Given the description of an element on the screen output the (x, y) to click on. 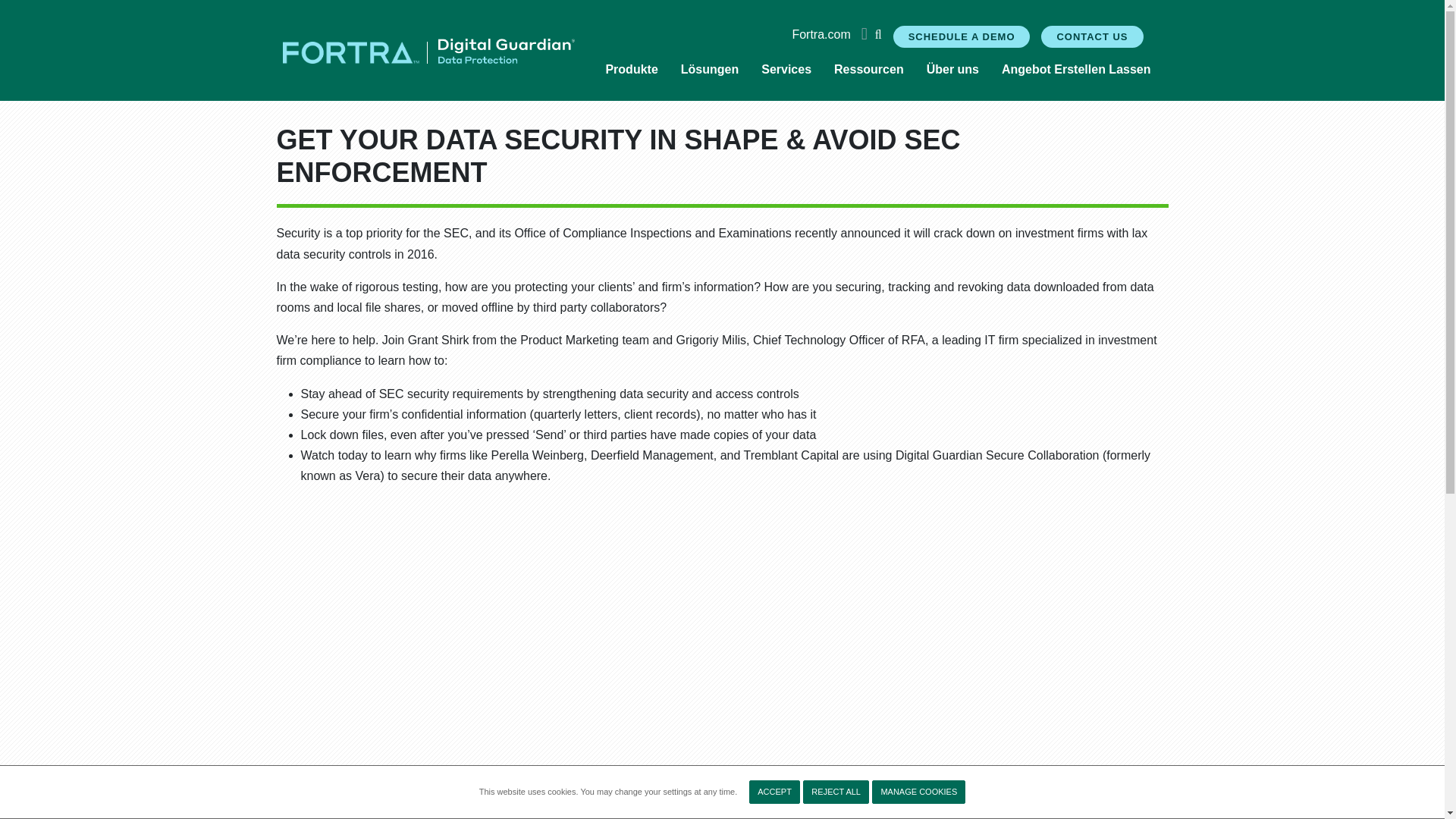
Produkte (631, 69)
REJECT ALL (836, 791)
SCHEDULE A DEMO (961, 36)
MANAGE COOKIES (918, 791)
CONTACT US (1091, 36)
Fortra.com (821, 34)
ACCEPT (774, 791)
